Given the description of an element on the screen output the (x, y) to click on. 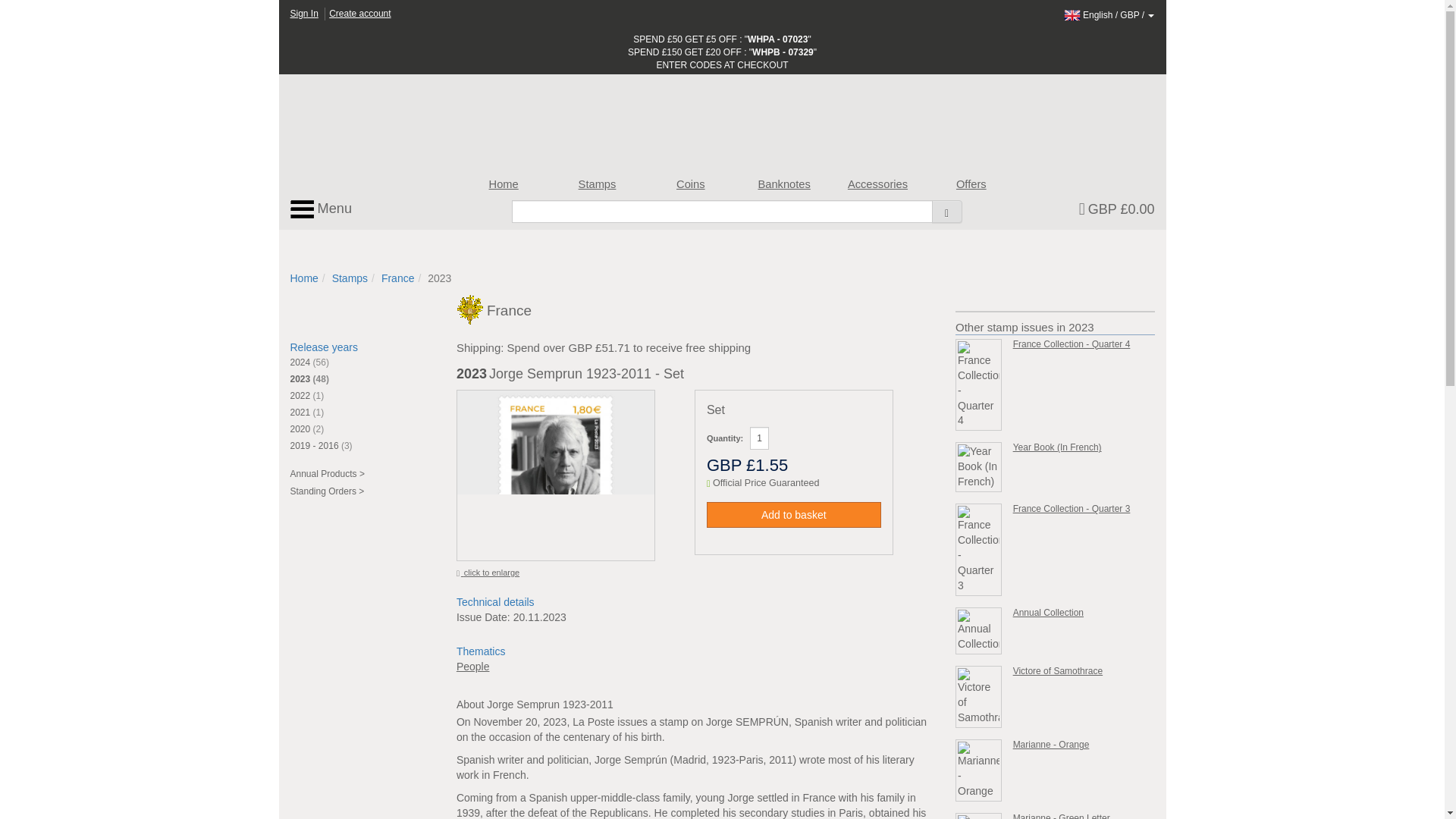
Stamps (596, 184)
2019 (357, 445)
2023 (357, 379)
Accessories (877, 184)
Offers (971, 184)
2021 (357, 412)
Menu (354, 209)
Sign In (303, 13)
Banknotes (783, 184)
2024 (357, 362)
France (471, 307)
Home (503, 184)
France (326, 473)
Create account (359, 13)
Coins (690, 184)
